Given the description of an element on the screen output the (x, y) to click on. 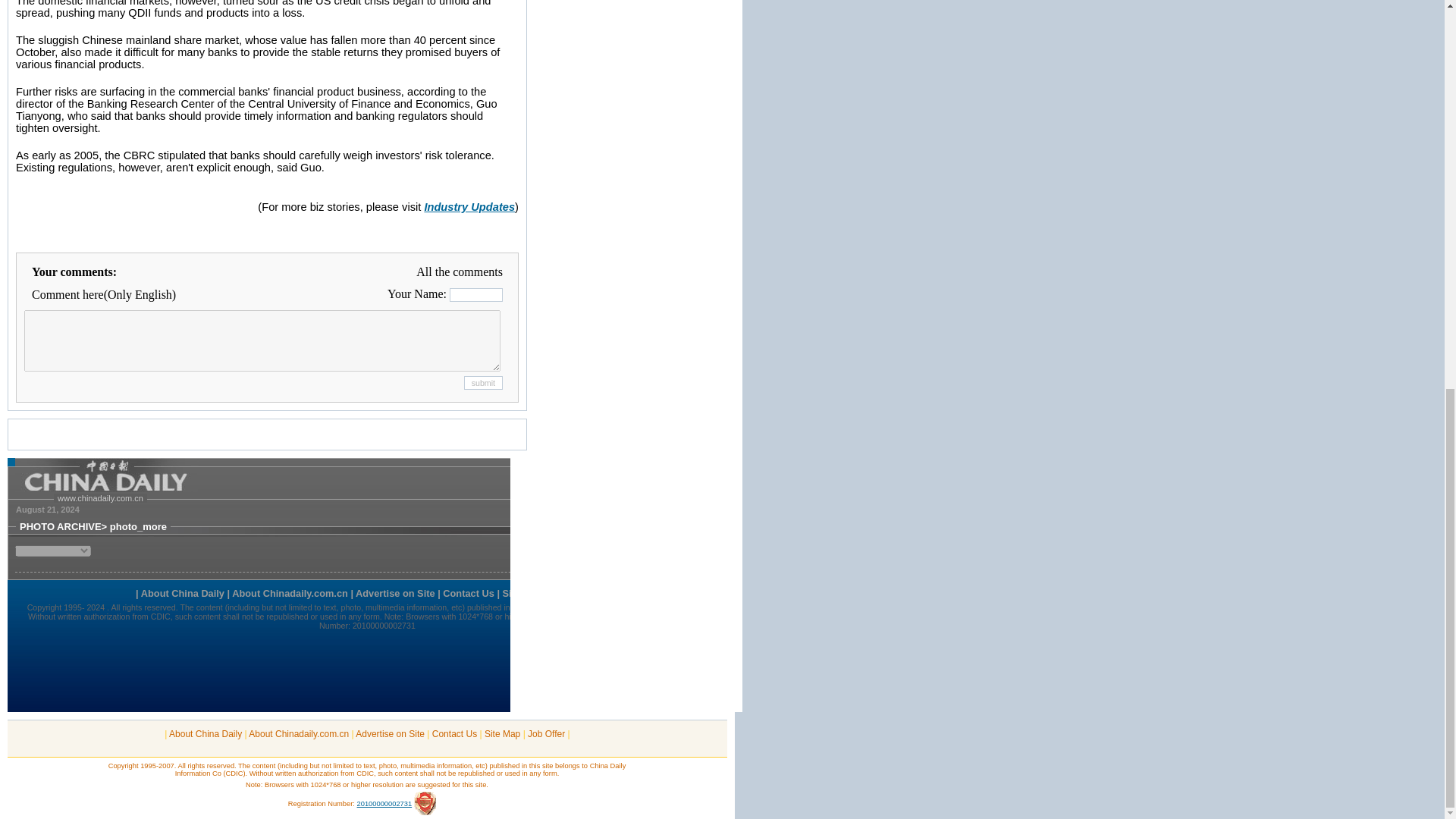
20100000002731 (384, 803)
 submit  (483, 382)
About China Daily (204, 733)
Advertise on Site (390, 733)
Site Map (501, 733)
 submit  (483, 382)
Industry Updates (469, 206)
About Chinadaily.com.cn (298, 733)
Contact Us (454, 733)
All the comments (459, 271)
